Given the description of an element on the screen output the (x, y) to click on. 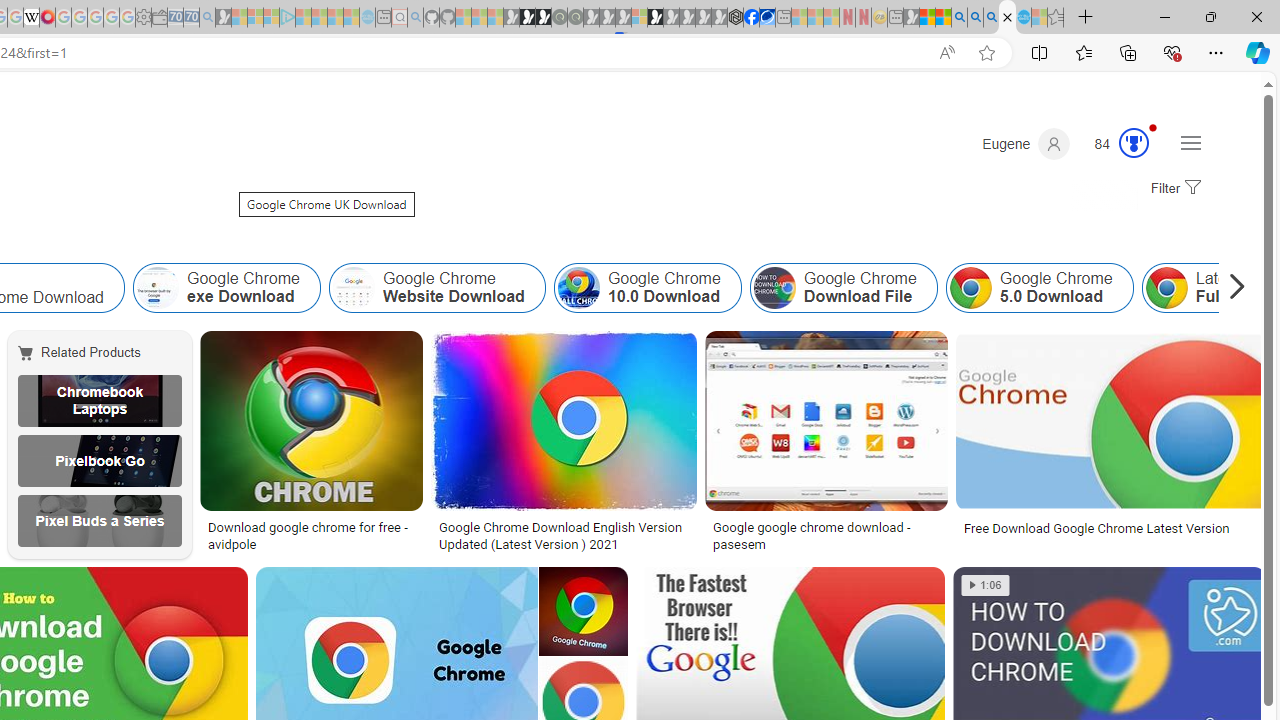
Latest Google Chrome Full Download (1166, 287)
Google Chrome 10.0 Download (647, 287)
Target page - Wikipedia (31, 17)
Google google chrome download - pasesem (825, 535)
Chromebook Laptops UK (99, 400)
Google Chrome 5.0 Download (1038, 287)
Pixel Buds a Series (99, 521)
Eugene (1026, 143)
Google Chrome 10.0 Download (578, 287)
